Given the description of an element on the screen output the (x, y) to click on. 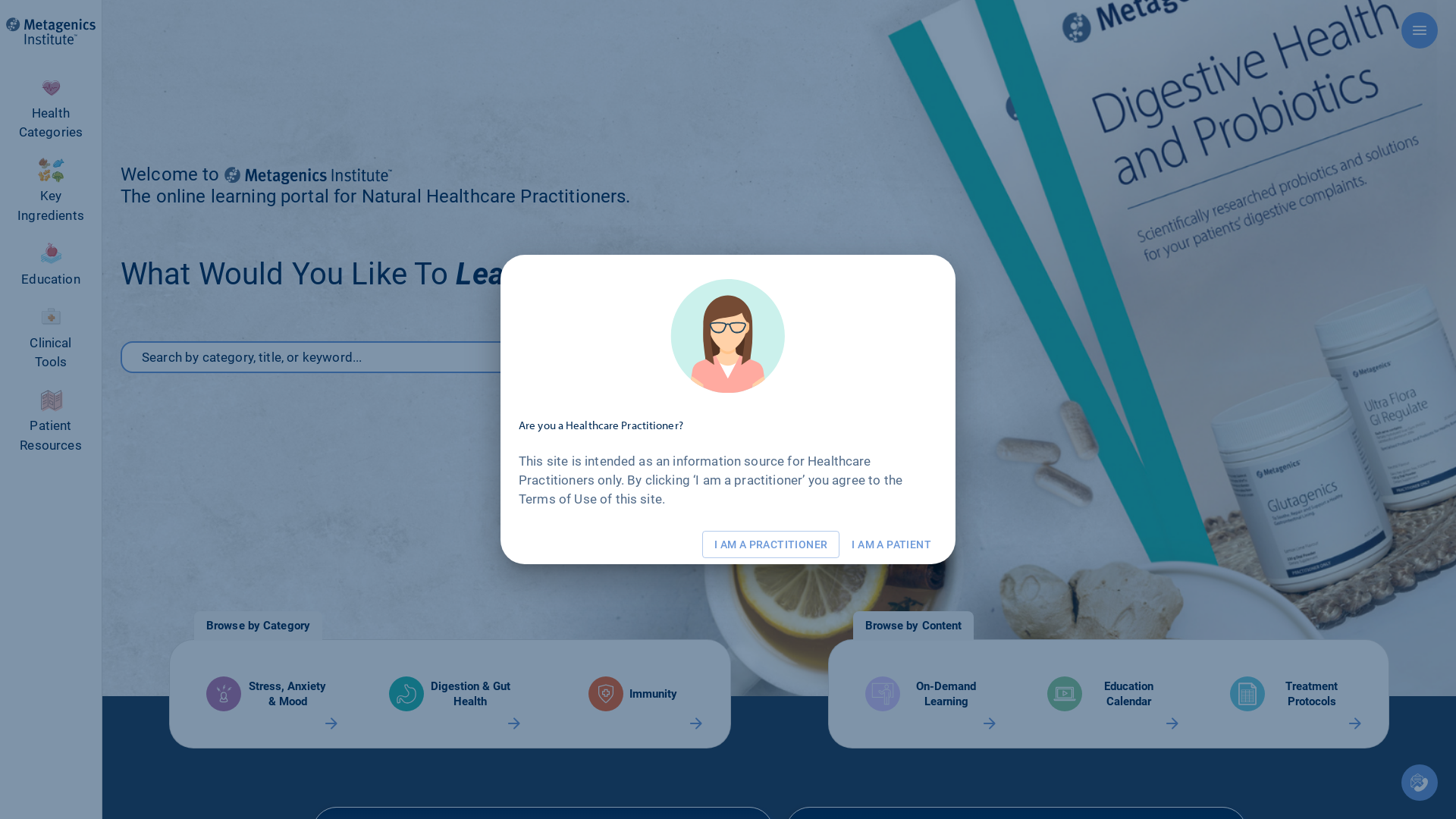
I AM A PATIENT Element type: text (891, 544)
START LEARNING Element type: text (855, 357)
Treatment Protocols Element type: text (1290, 693)
On-Demand Learning Element type: text (925, 693)
Digestion & Gut Health Element type: text (449, 693)
Stress, Anxiety & Mood Element type: text (267, 693)
I AM A PATIENT Element type: text (891, 544)
Education Calendar Element type: text (1107, 693)
I AM A PRACTITIONER Element type: text (771, 544)
Immunity Element type: text (632, 693)
